Given the description of an element on the screen output the (x, y) to click on. 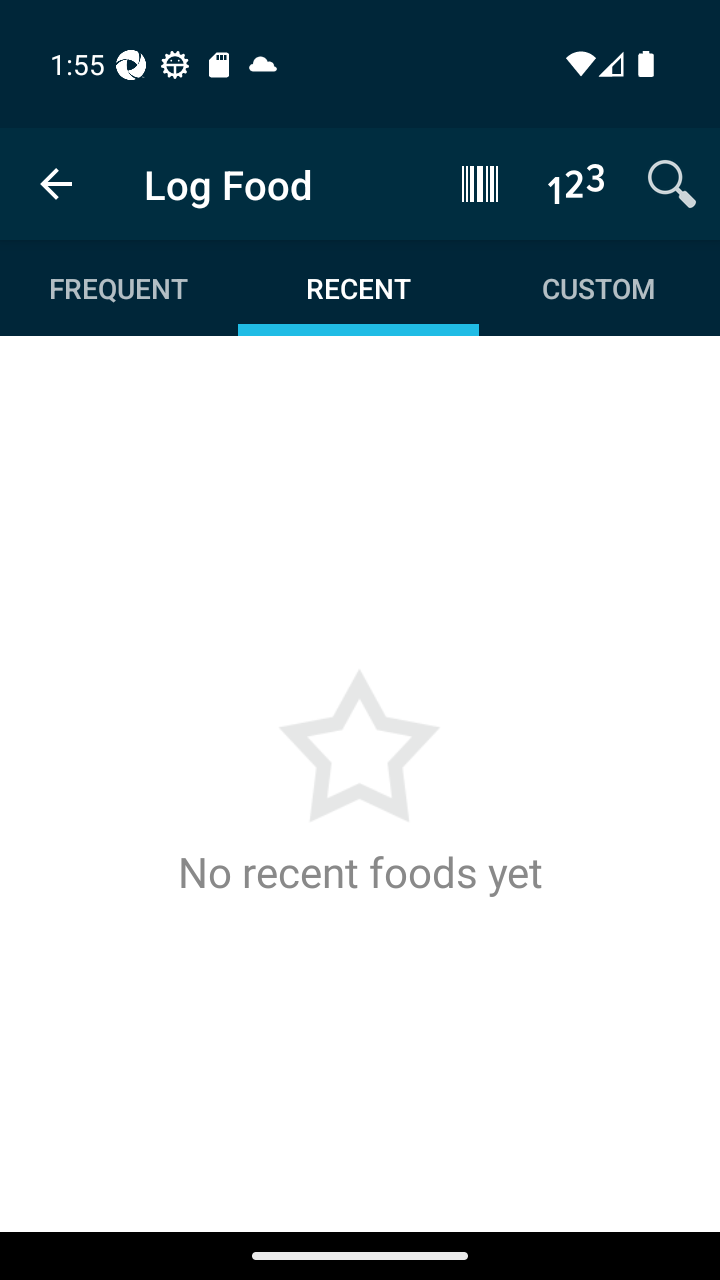
Navigate up (56, 184)
Barcode scanner (479, 183)
Add Quick Calories (575, 183)
Search database (672, 183)
FREQUENT (119, 287)
RECENT (358, 287)
CUSTOM (598, 287)
